Given the description of an element on the screen output the (x, y) to click on. 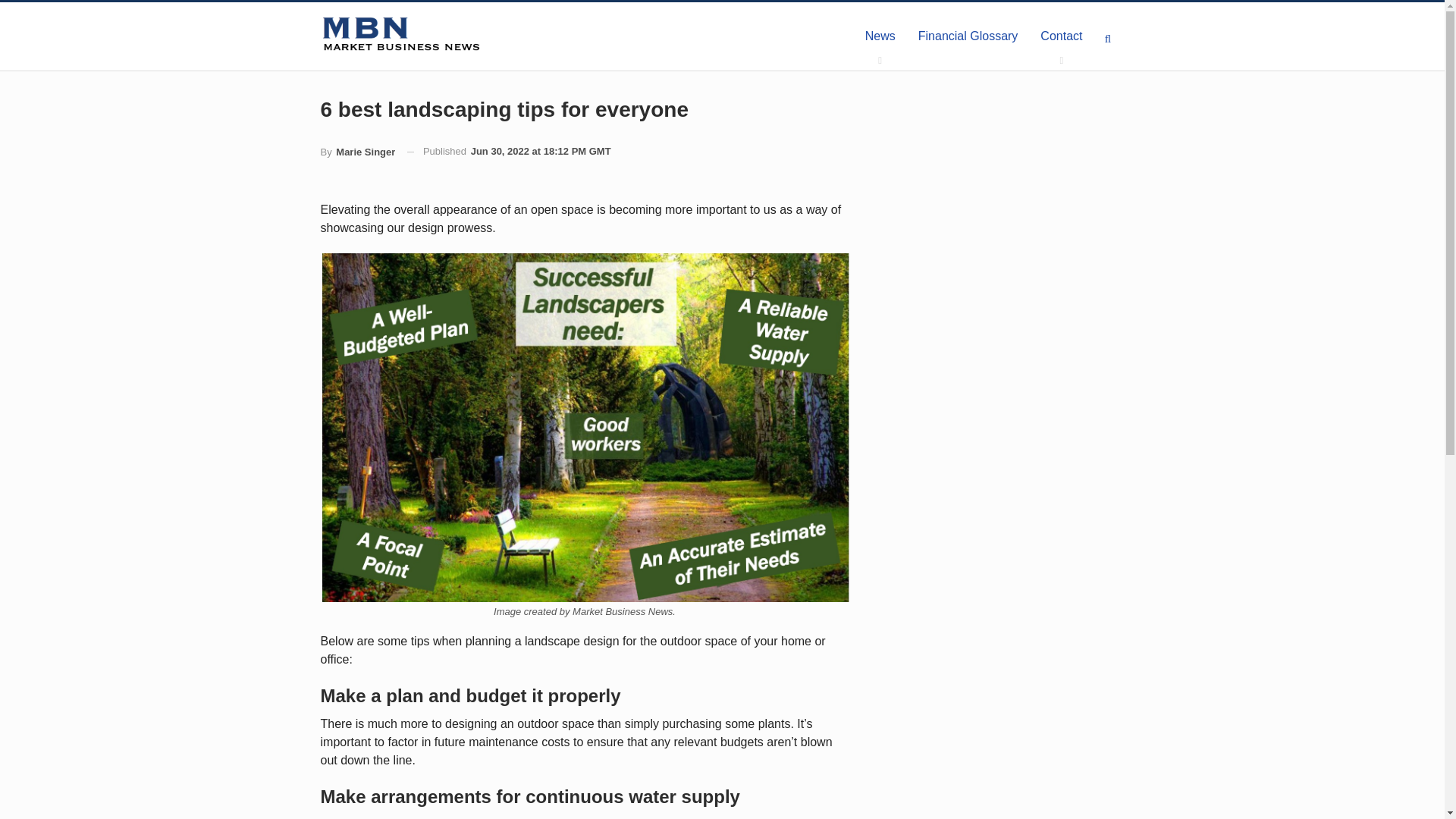
Contact (1061, 36)
Financial Glossary (968, 36)
Browse Author Articles (357, 152)
By Marie Singer (357, 152)
